Given the description of an element on the screen output the (x, y) to click on. 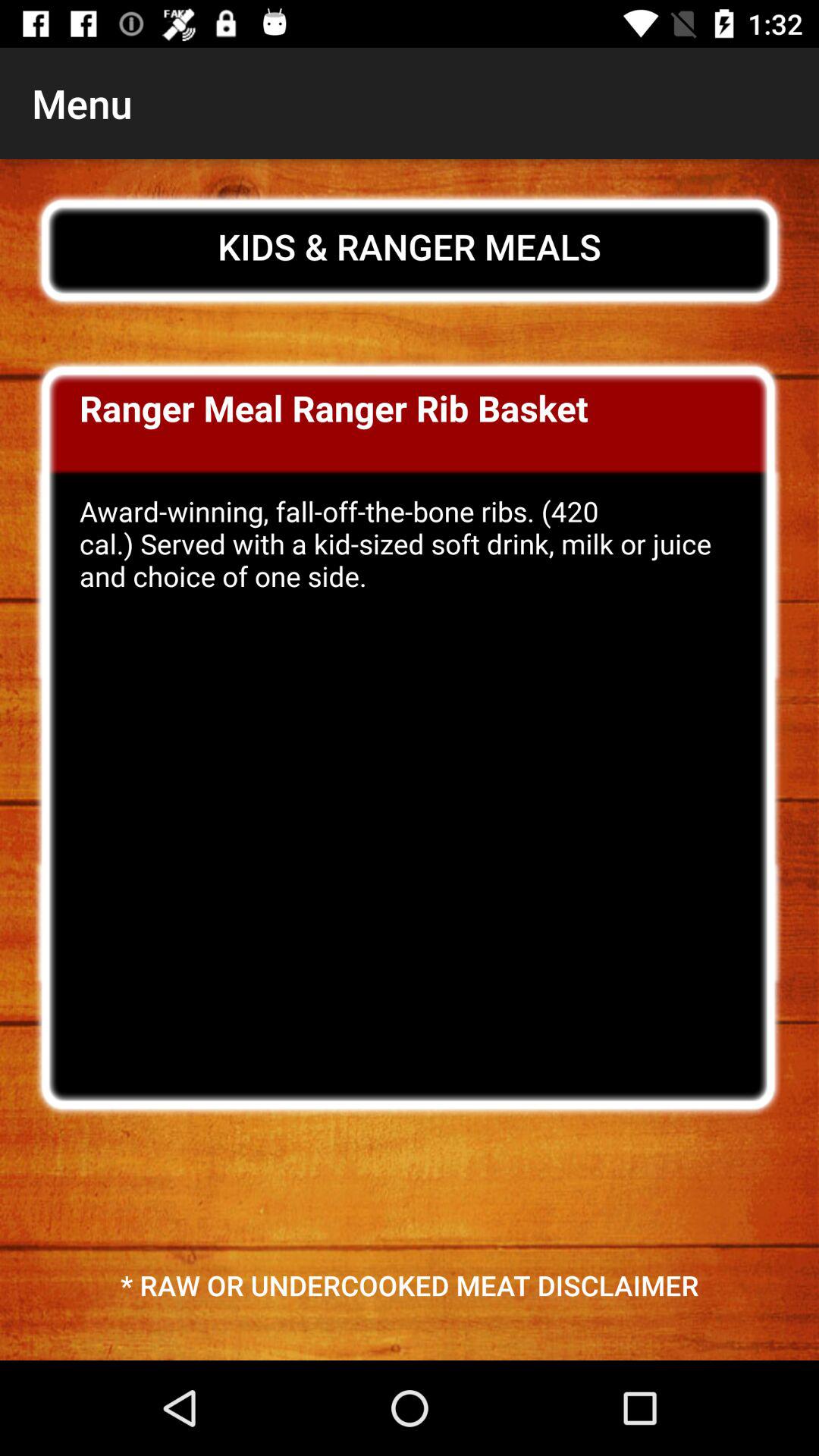
launch app below award winning fall icon (409, 1285)
